Given the description of an element on the screen output the (x, y) to click on. 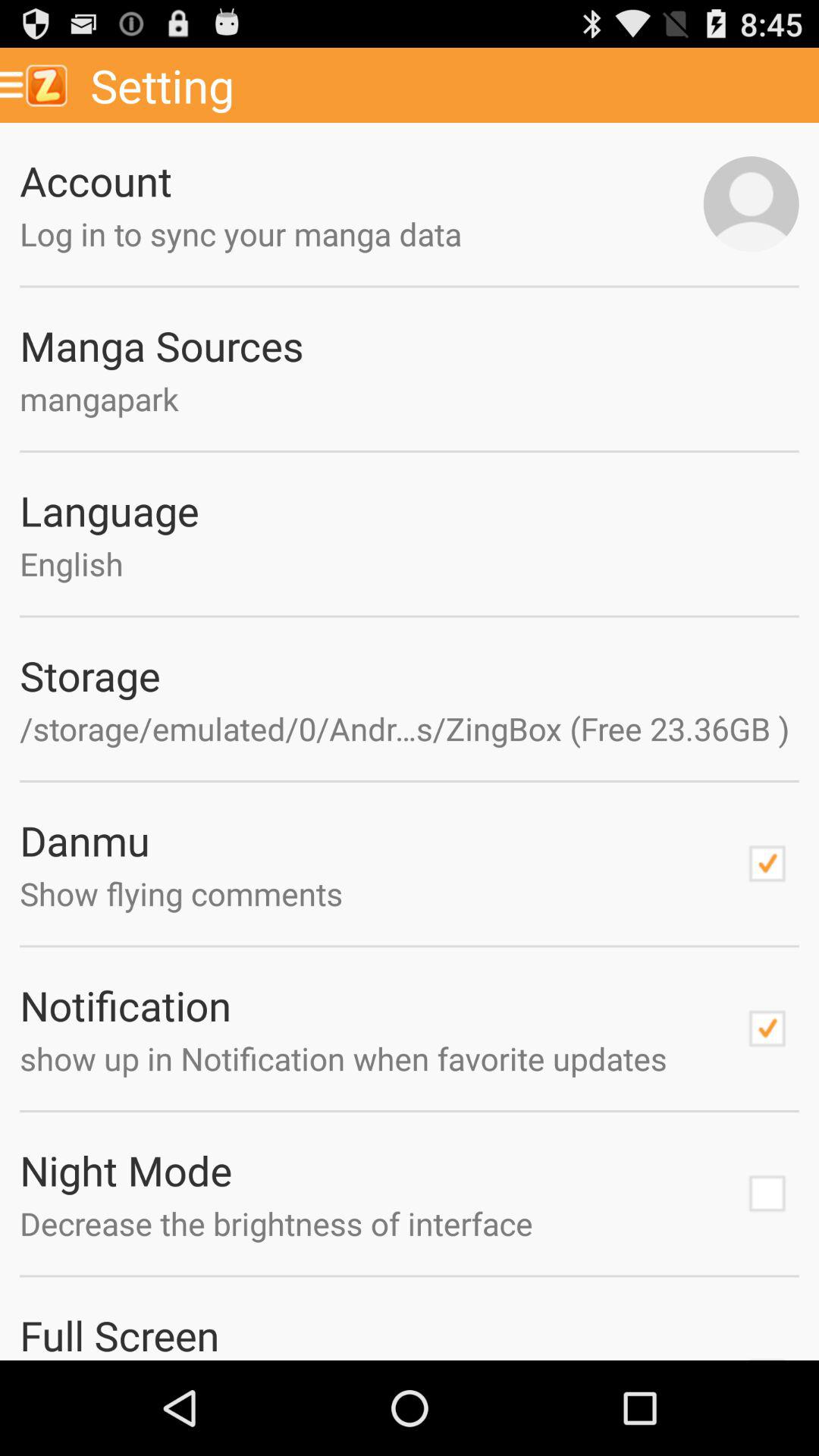
scroll until manga sources app (409, 345)
